Given the description of an element on the screen output the (x, y) to click on. 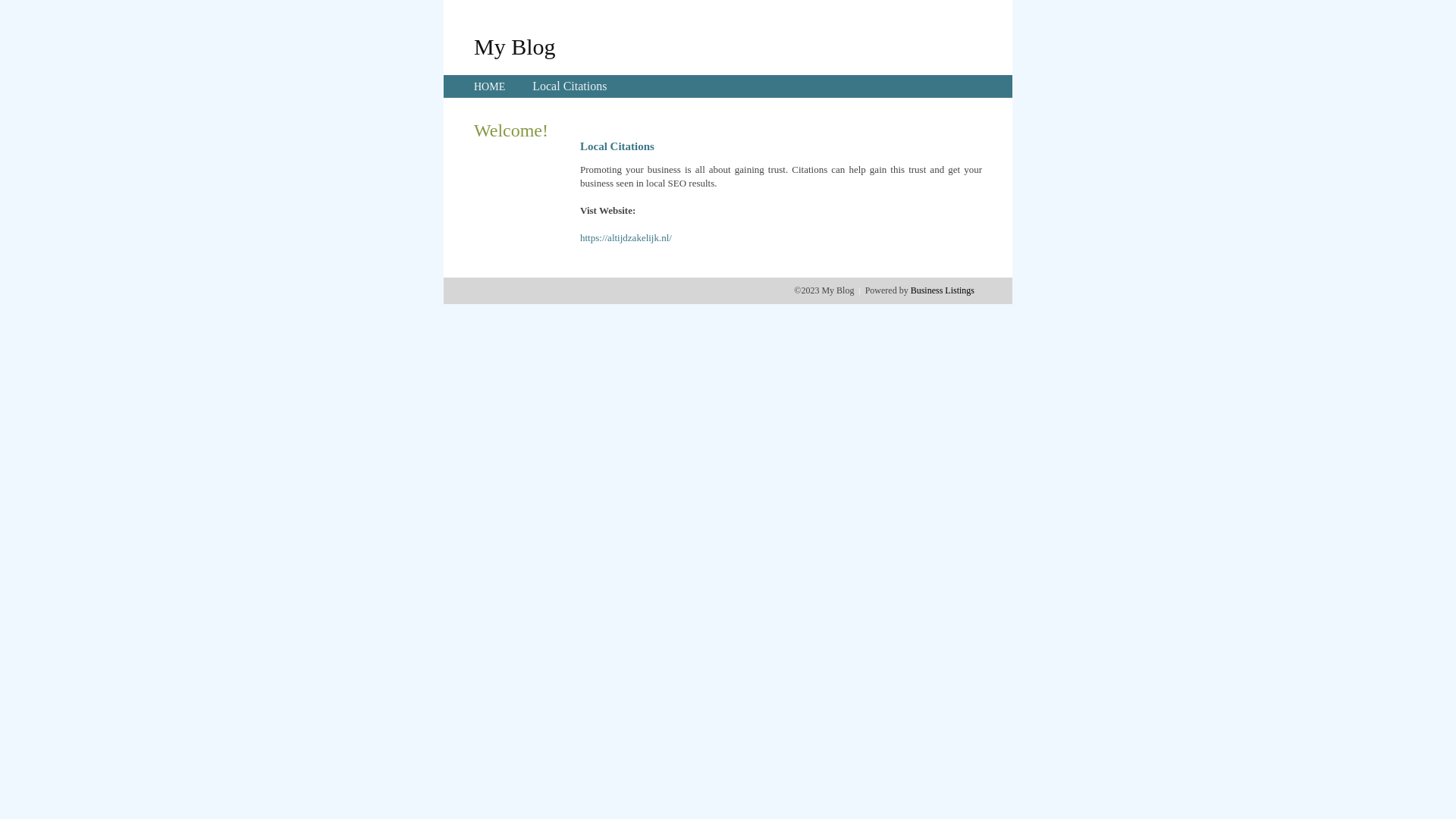
Local Citations Element type: text (569, 85)
HOME Element type: text (489, 86)
https://altijdzakelijk.nl/ Element type: text (625, 237)
Business Listings Element type: text (942, 290)
My Blog Element type: text (514, 46)
